Given the description of an element on the screen output the (x, y) to click on. 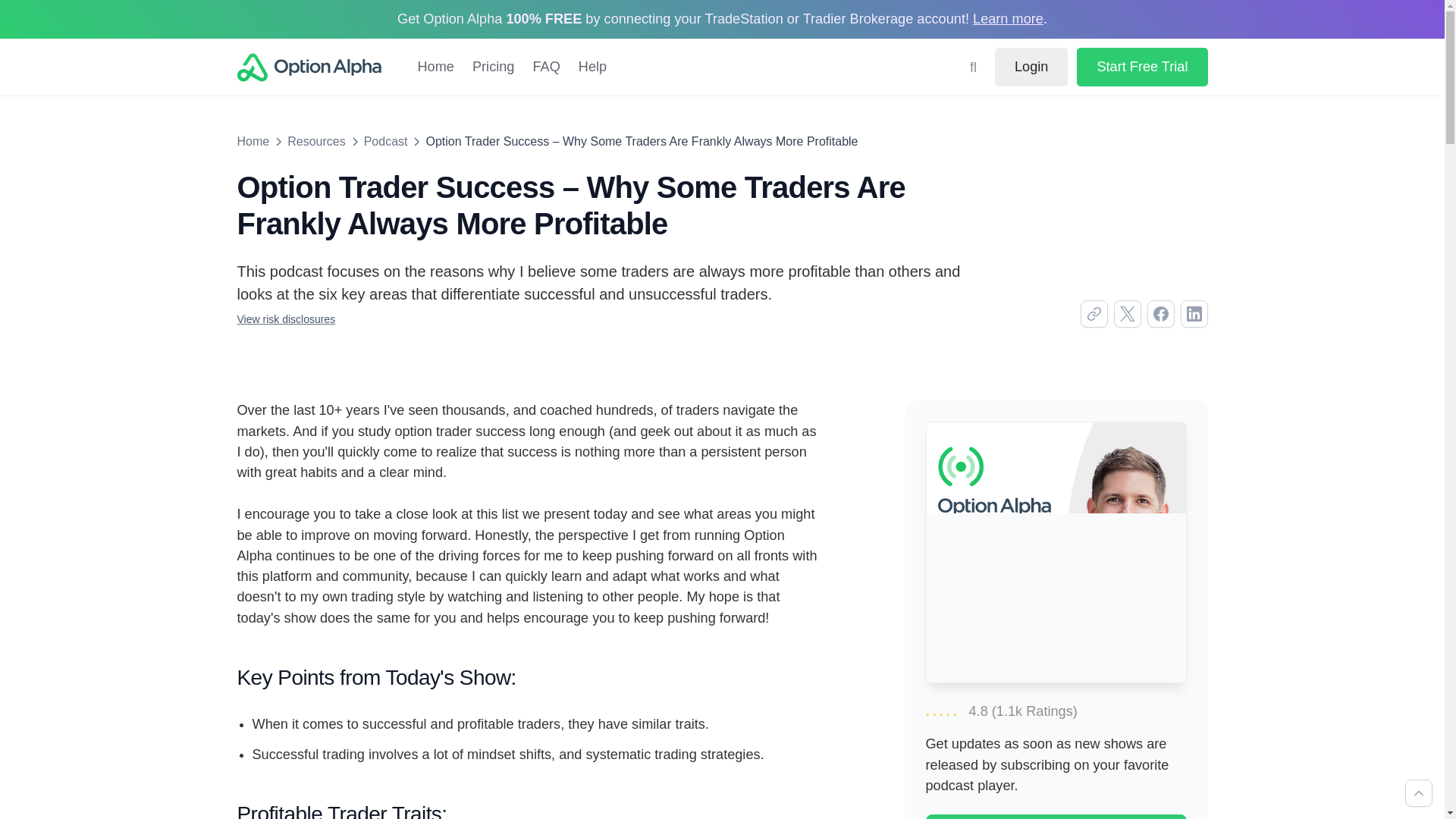
Podcast (385, 141)
Pricing (493, 66)
Help (592, 66)
Home (435, 66)
Home (252, 141)
Resources (315, 141)
View risk disclosures (284, 318)
Share on Facebook (1160, 313)
Share on Twitter (1126, 313)
Learn more (1007, 18)
Start Free Trial (1142, 66)
FAQ (545, 66)
Login (1030, 66)
Share on LinkedIn (1193, 313)
